Given the description of an element on the screen output the (x, y) to click on. 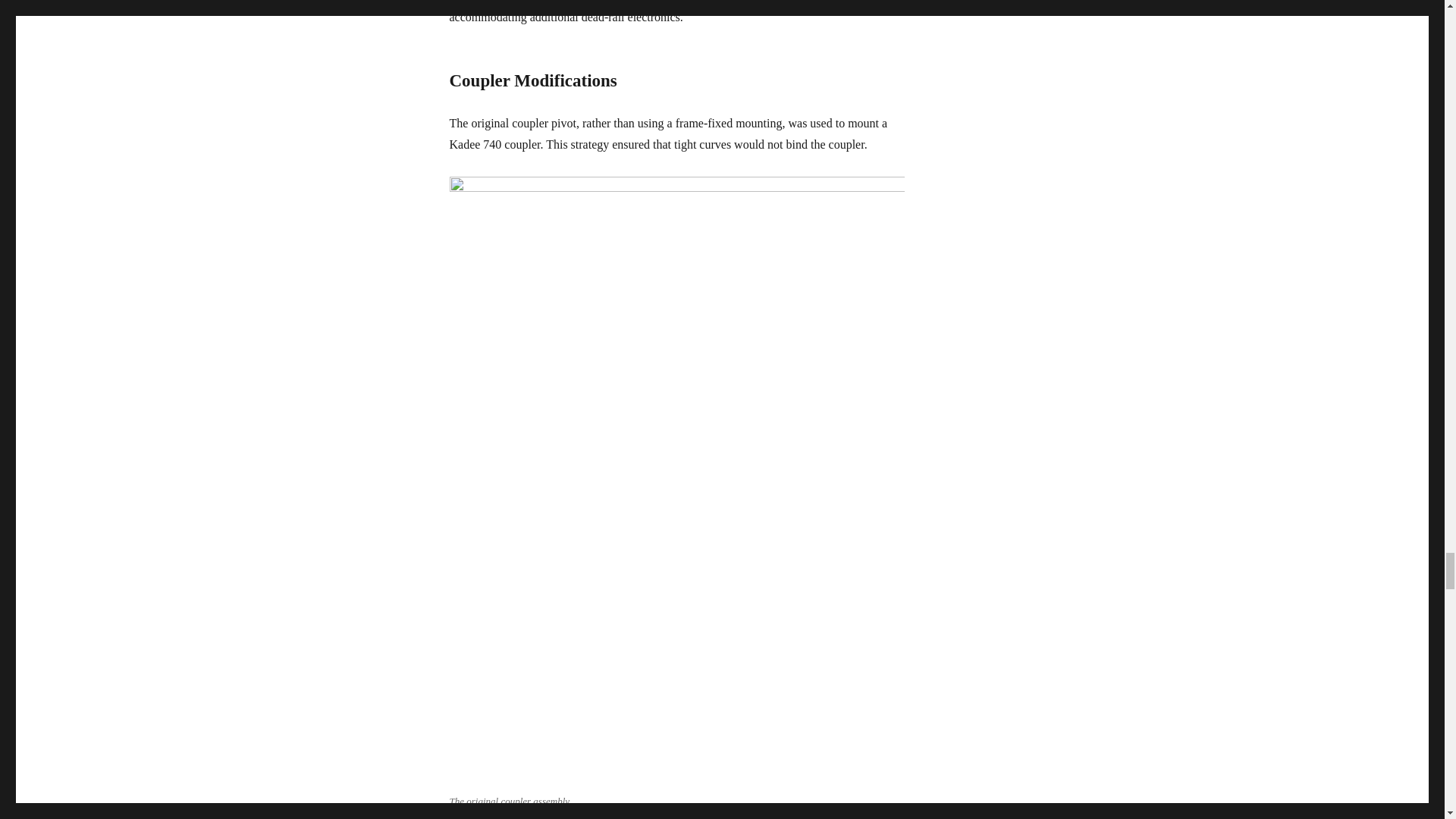
Kadee 740 coupler (770, 1)
